Given the description of an element on the screen output the (x, y) to click on. 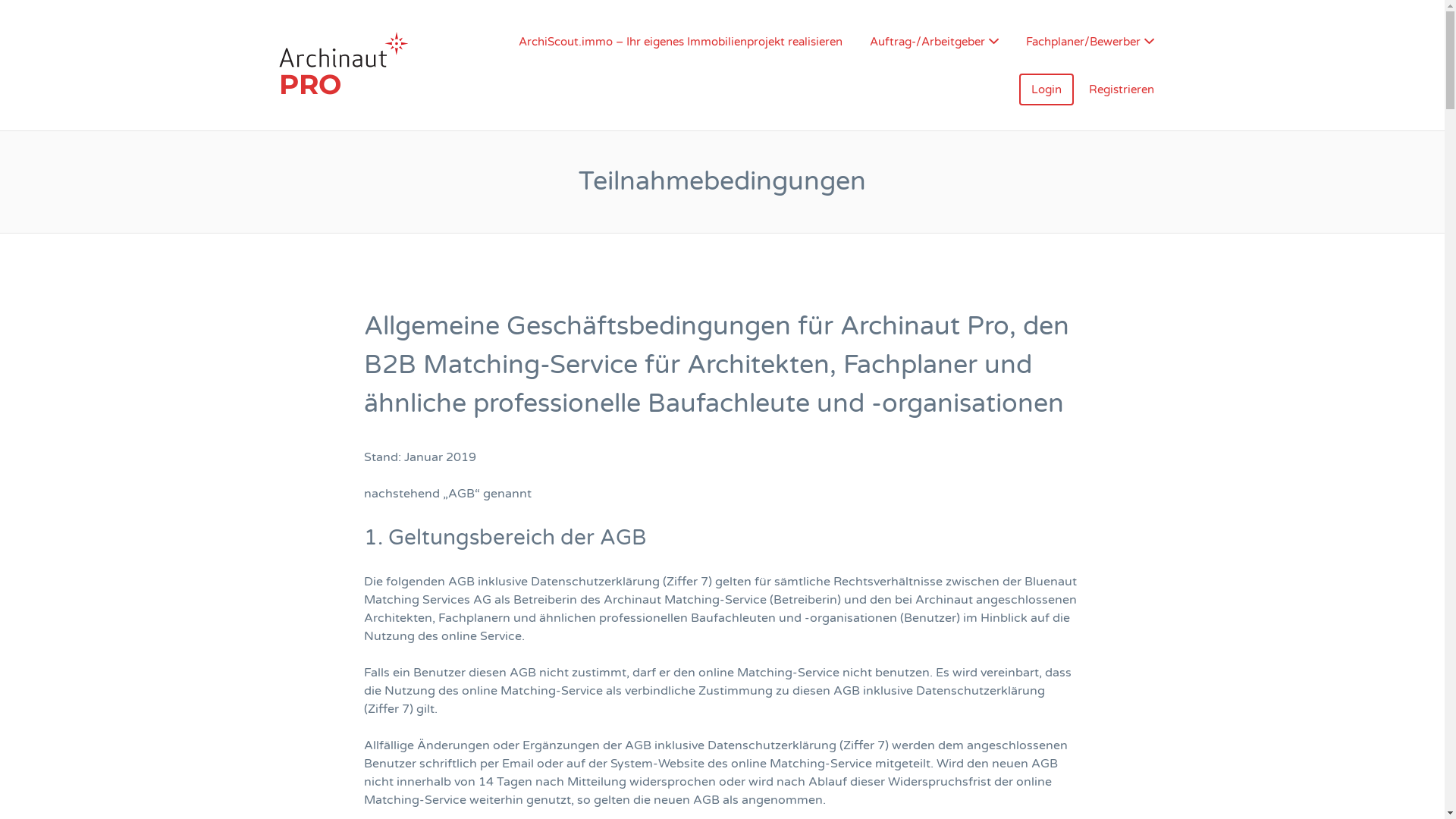
Auftrag-/Arbeitgeber Element type: text (933, 41)
Registrieren Element type: text (1121, 88)
PRO Element type: text (379, 65)
Fachplaner/Bewerber Element type: text (1089, 41)
Login Element type: text (1046, 88)
